Given the description of an element on the screen output the (x, y) to click on. 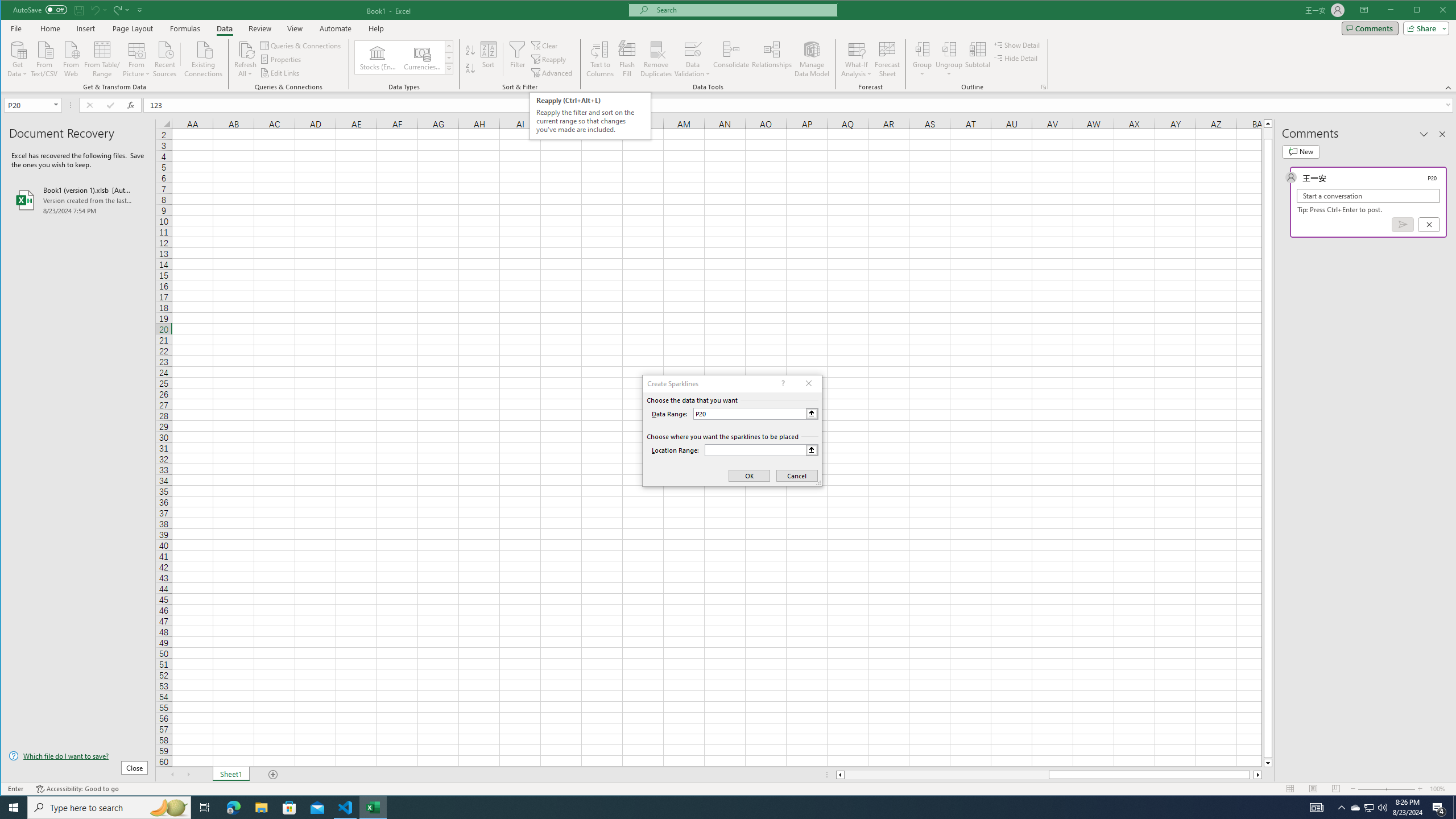
Post comment (Ctrl + Enter) (1402, 224)
